Given the description of an element on the screen output the (x, y) to click on. 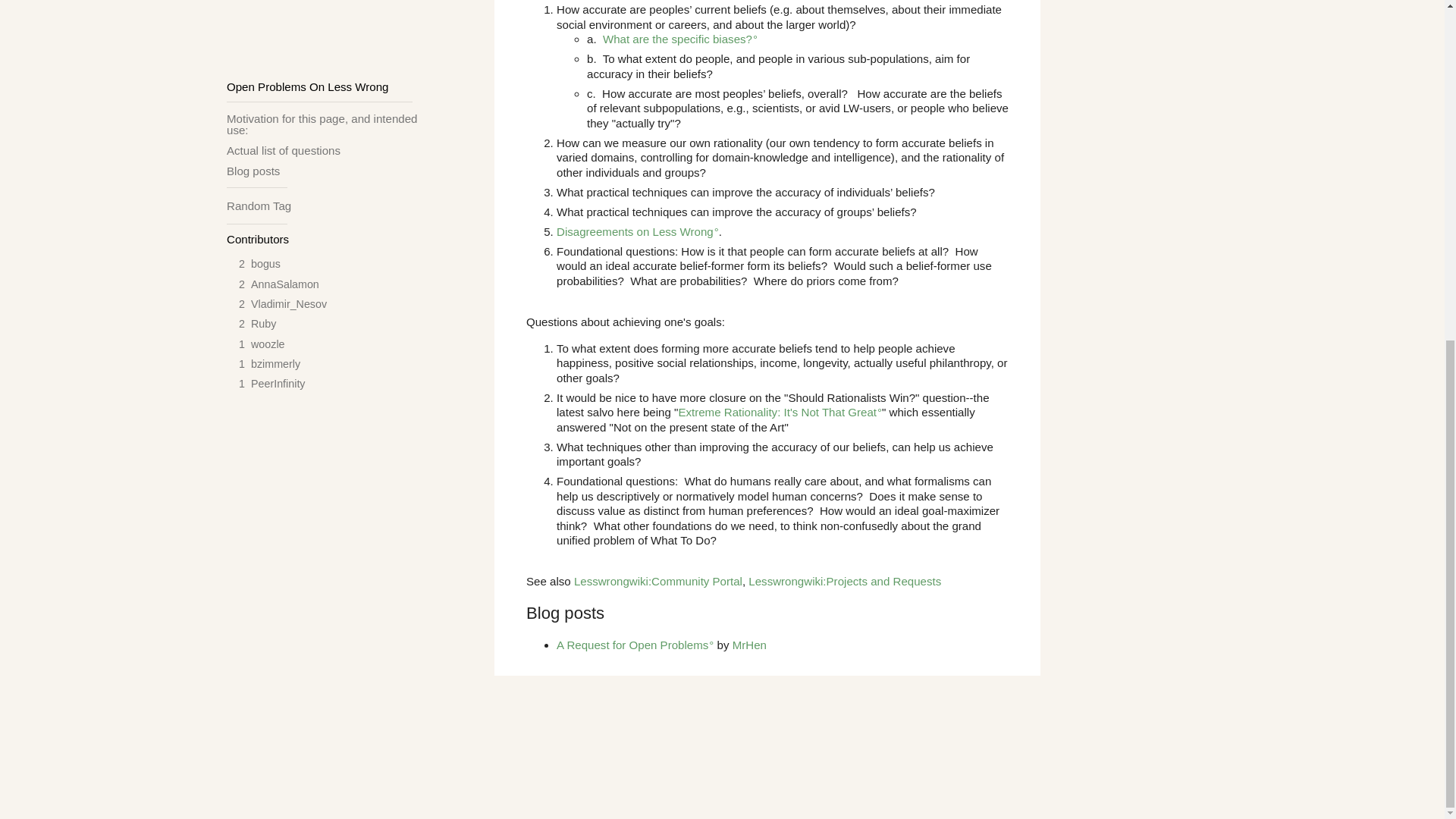
MrHen (749, 644)
Extreme Rationality: It's Not That Great (780, 411)
Lesswrongwiki:Community Portal (657, 581)
Lesswrongwiki:Projects and Requests (844, 581)
A Request for Open Problems (634, 644)
Disagreements on Less Wrong (637, 231)
What are the specific biases? (679, 38)
